Given the description of an element on the screen output the (x, y) to click on. 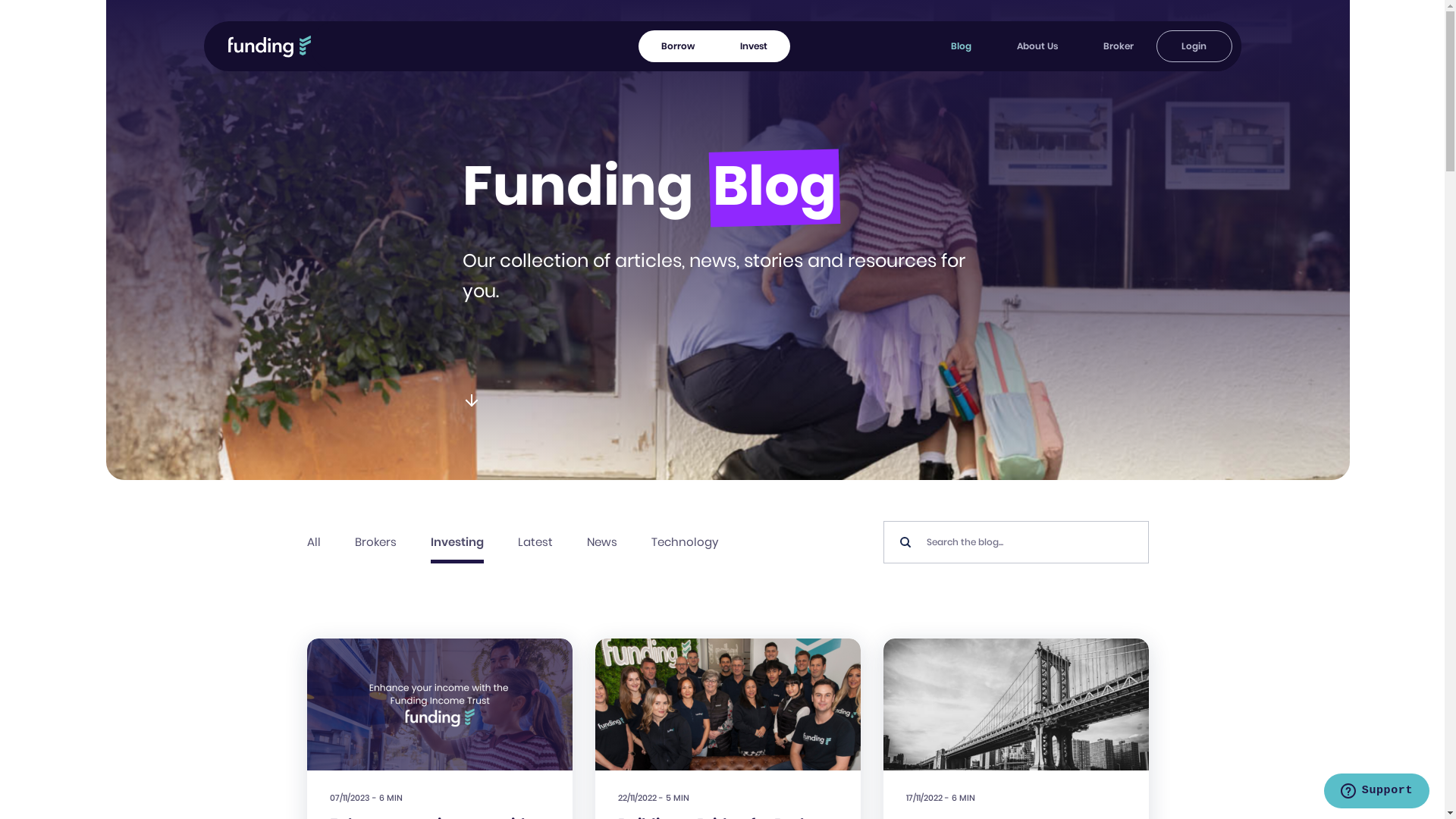
Scroll to content Element type: text (471, 399)
Latest Element type: text (534, 541)
About Us Element type: text (1036, 46)
Borrow Element type: text (677, 46)
News Element type: text (601, 541)
Brokers Element type: text (375, 541)
Technology Element type: text (684, 541)
Login Element type: text (1193, 46)
Broker Element type: text (1117, 46)
Search Element type: text (1148, 520)
Investing Element type: text (456, 541)
Opens a widget where you can find more information Element type: hover (1376, 792)
All Element type: text (313, 541)
Invest Element type: text (753, 46)
Blog Element type: text (961, 46)
